Given the description of an element on the screen output the (x, y) to click on. 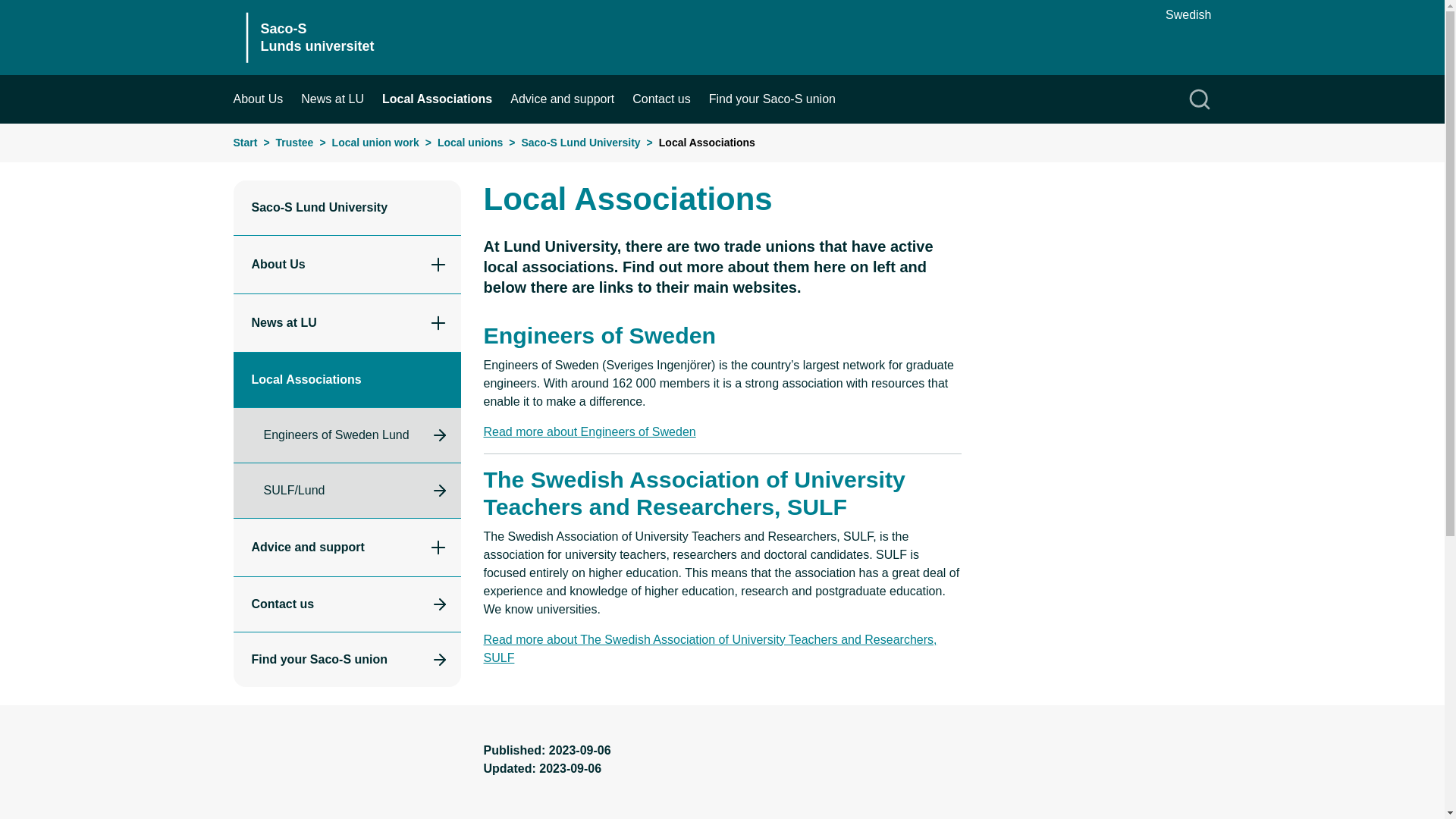
Local Associations (446, 99)
Contact us (669, 99)
News at LU (341, 99)
Find your Saco-S union (781, 99)
About Us (266, 99)
Swedish (1188, 14)
Advice and support (571, 99)
